Given the description of an element on the screen output the (x, y) to click on. 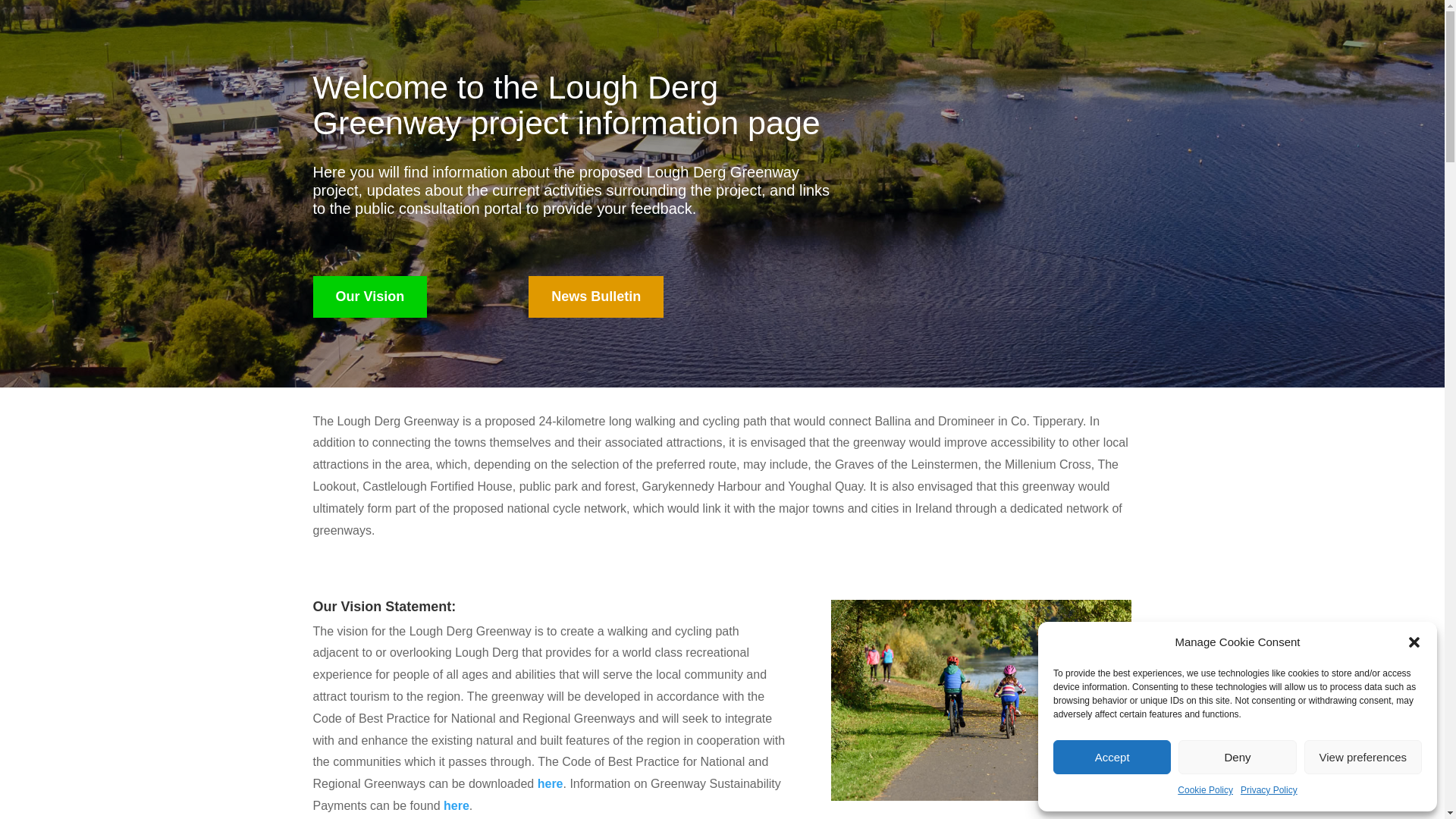
here (550, 783)
Our Vision (369, 296)
here (456, 805)
Cookie Policy (1205, 791)
Deny (1236, 756)
2 children (981, 699)
Privacy Policy (1268, 791)
View preferences (1363, 756)
News Bulletin (595, 296)
Accept (1111, 756)
